Given the description of an element on the screen output the (x, y) to click on. 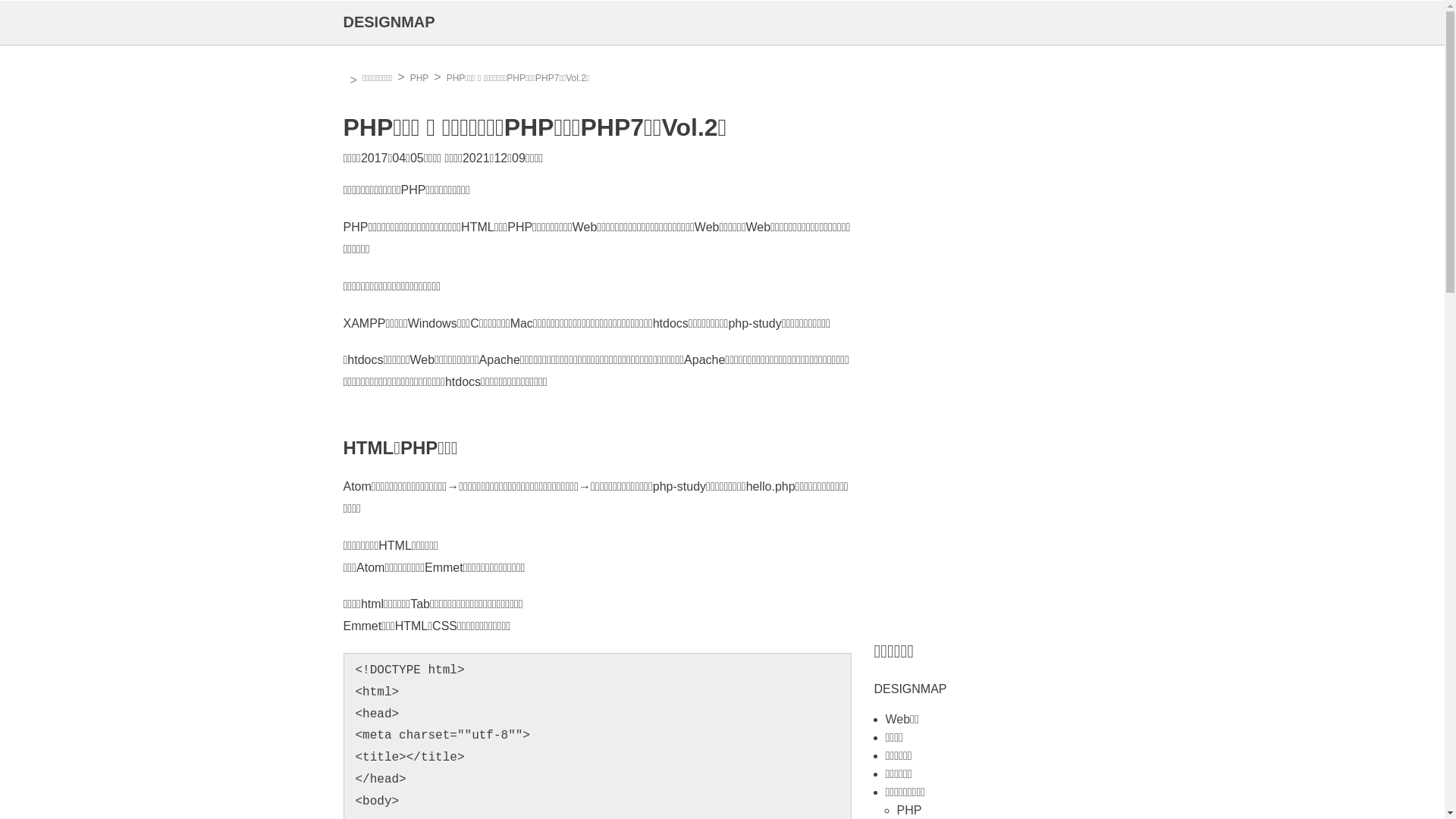
Advertisement Element type: hover (987, 394)
DESIGNMAP Element type: text (388, 21)
TOP Element type: text (344, 80)
PHP Element type: text (419, 77)
PHP Element type: text (908, 809)
